Given the description of an element on the screen output the (x, y) to click on. 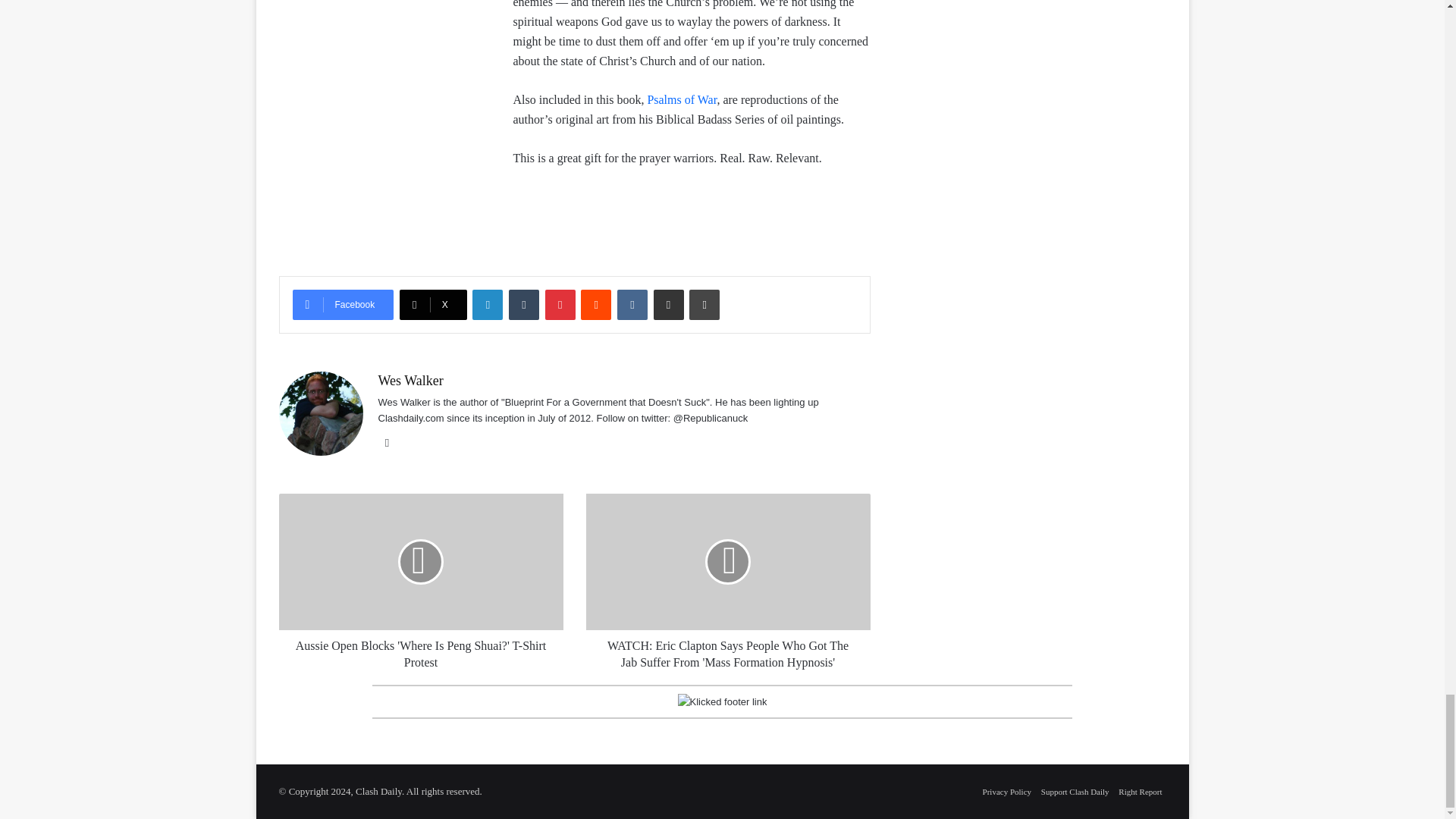
Tumblr (523, 304)
Facebook (343, 304)
X (432, 304)
Pinterest (559, 304)
Reddit (595, 304)
Print (703, 304)
Share via Email (668, 304)
VKontakte (632, 304)
X (432, 304)
Tumblr (523, 304)
